Given the description of an element on the screen output the (x, y) to click on. 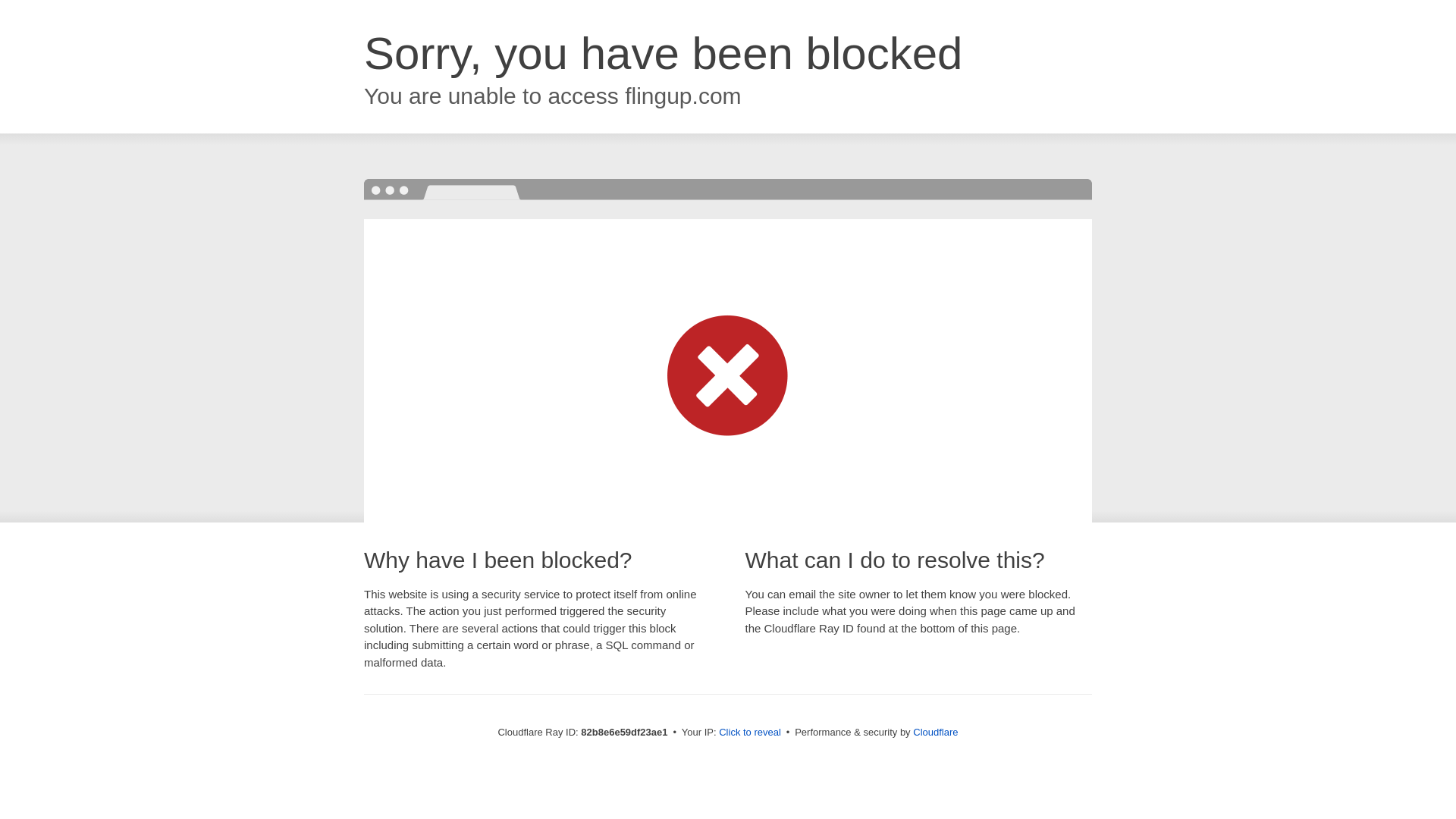
Click to reveal Element type: text (749, 732)
Cloudflare Element type: text (935, 731)
